Given the description of an element on the screen output the (x, y) to click on. 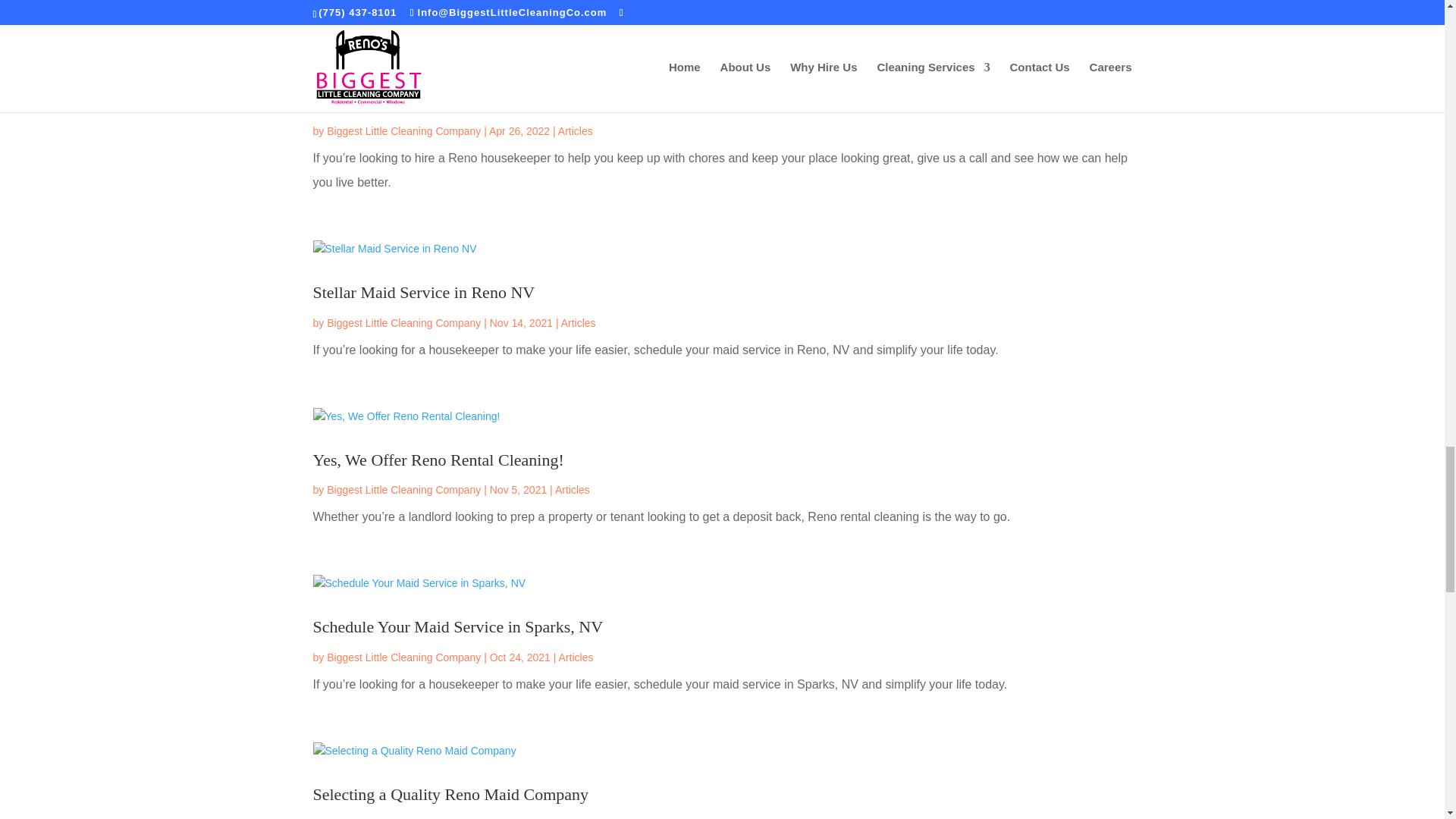
Posts by Biggest Little Cleaning Company (403, 322)
Posts by Biggest Little Cleaning Company (403, 490)
Biggest Little Cleaning Company (403, 131)
Posts by Biggest Little Cleaning Company (403, 657)
Posts by Biggest Little Cleaning Company (403, 131)
Articles (574, 131)
Stellar Maid Service in Reno NV (423, 292)
Are You Looking For A Reno Housekeeper? (460, 99)
